Given the description of an element on the screen output the (x, y) to click on. 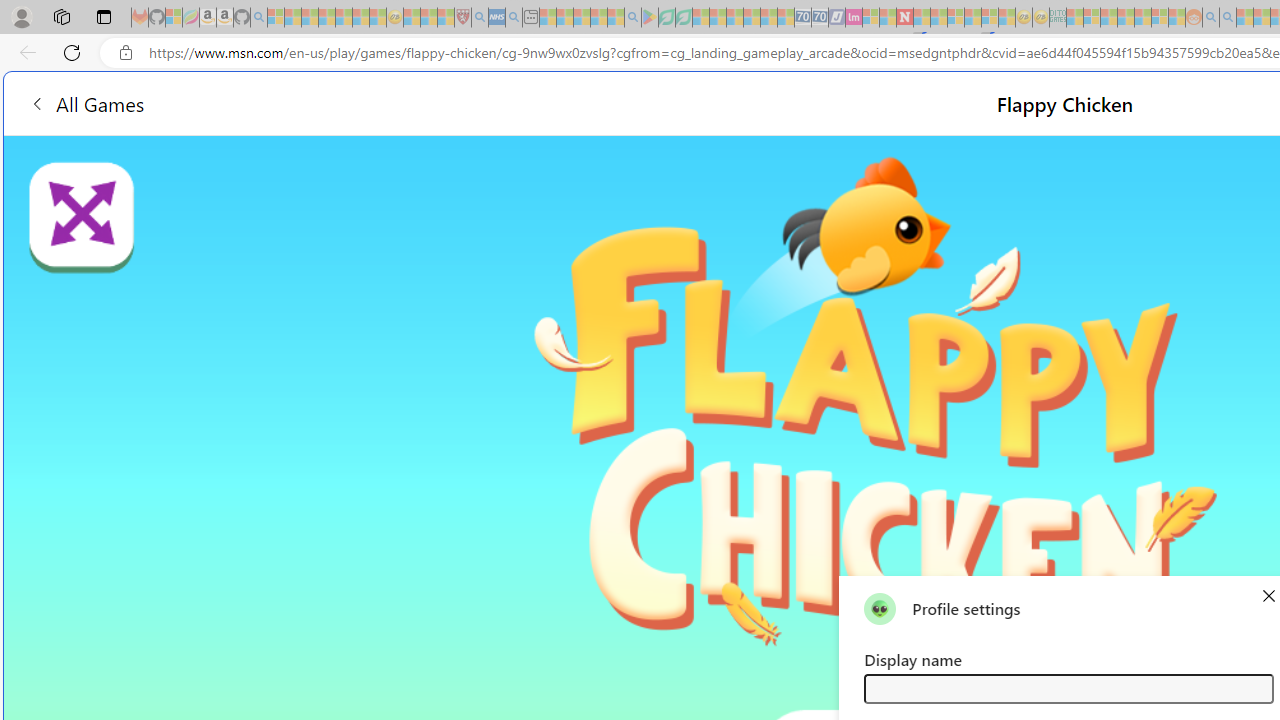
Microsoft account | Privacy - Sleeping (1091, 17)
Terms of Use Agreement - Sleeping (666, 17)
Microsoft-Report a Concern to Bing - Sleeping (173, 17)
Expert Portfolios - Sleeping (1125, 17)
google - Search - Sleeping (632, 17)
New Report Confirms 2023 Was Record Hot | Watch - Sleeping (343, 17)
All Games (86, 102)
Robert H. Shmerling, MD - Harvard Health - Sleeping (462, 17)
